Given the description of an element on the screen output the (x, y) to click on. 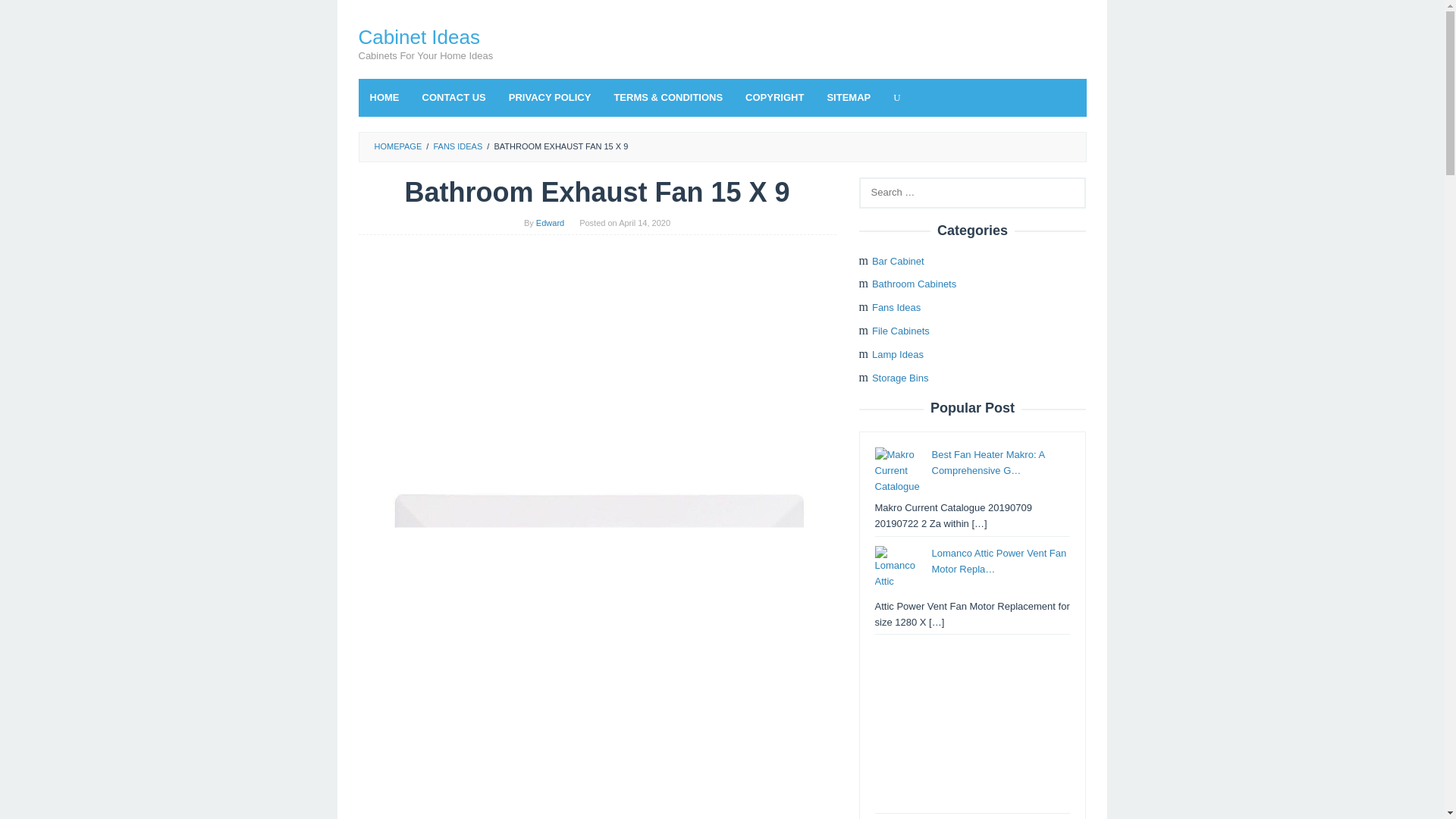
Cabinet Ideas (418, 36)
Bathroom Cabinets (914, 283)
CONTACT US (453, 97)
FANS IDEAS (456, 145)
Storage Bins (900, 378)
File Cabinets (901, 330)
Fans Ideas (896, 307)
Lamp Ideas (897, 354)
Search (27, 15)
